Given the description of an element on the screen output the (x, y) to click on. 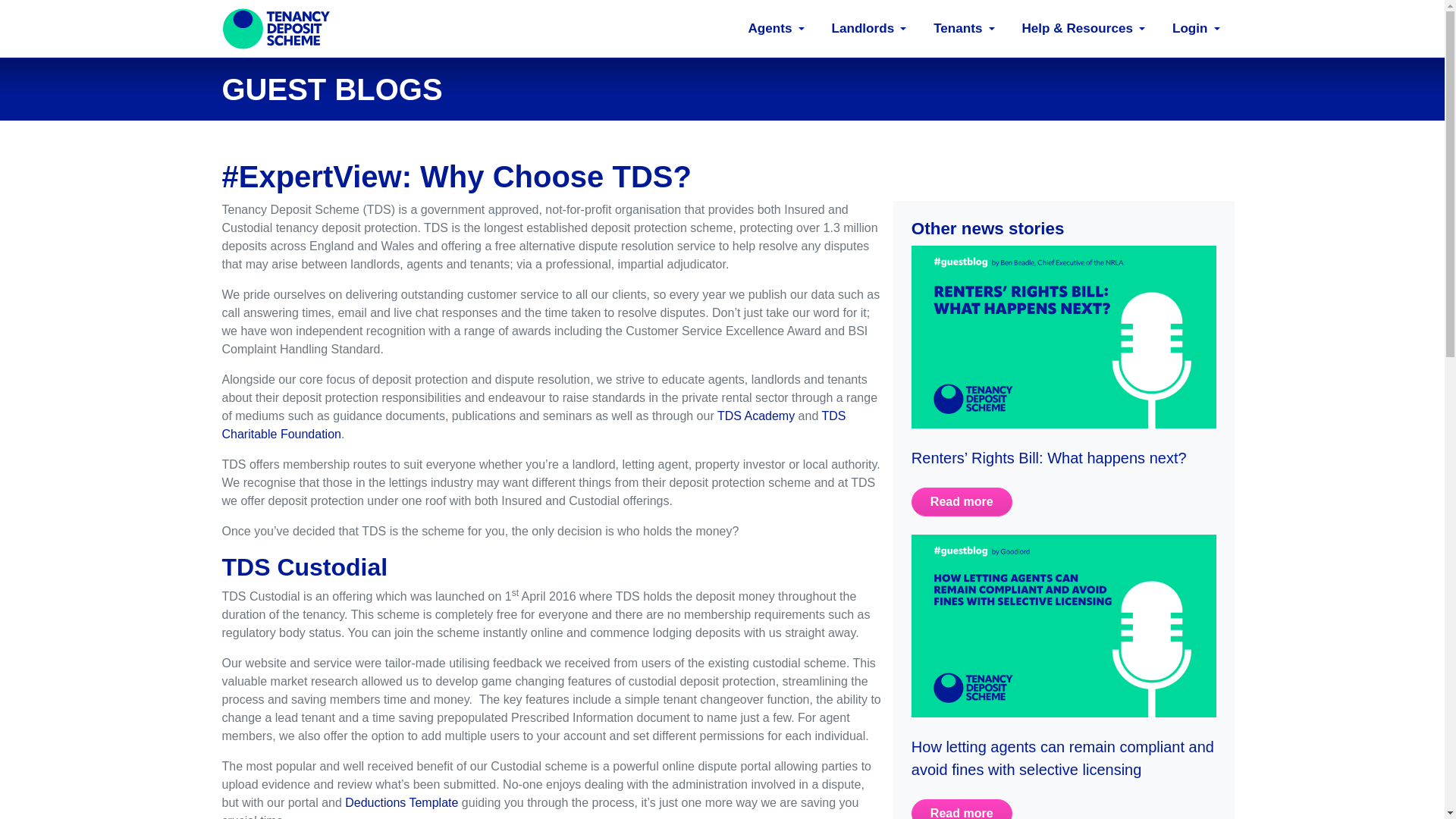
Tenants (954, 29)
TDS Charitable Foundation (533, 424)
Login (1187, 29)
Deductions Template (401, 802)
Landlords (859, 29)
TDS Academy (755, 415)
Agents (766, 29)
